Given the description of an element on the screen output the (x, y) to click on. 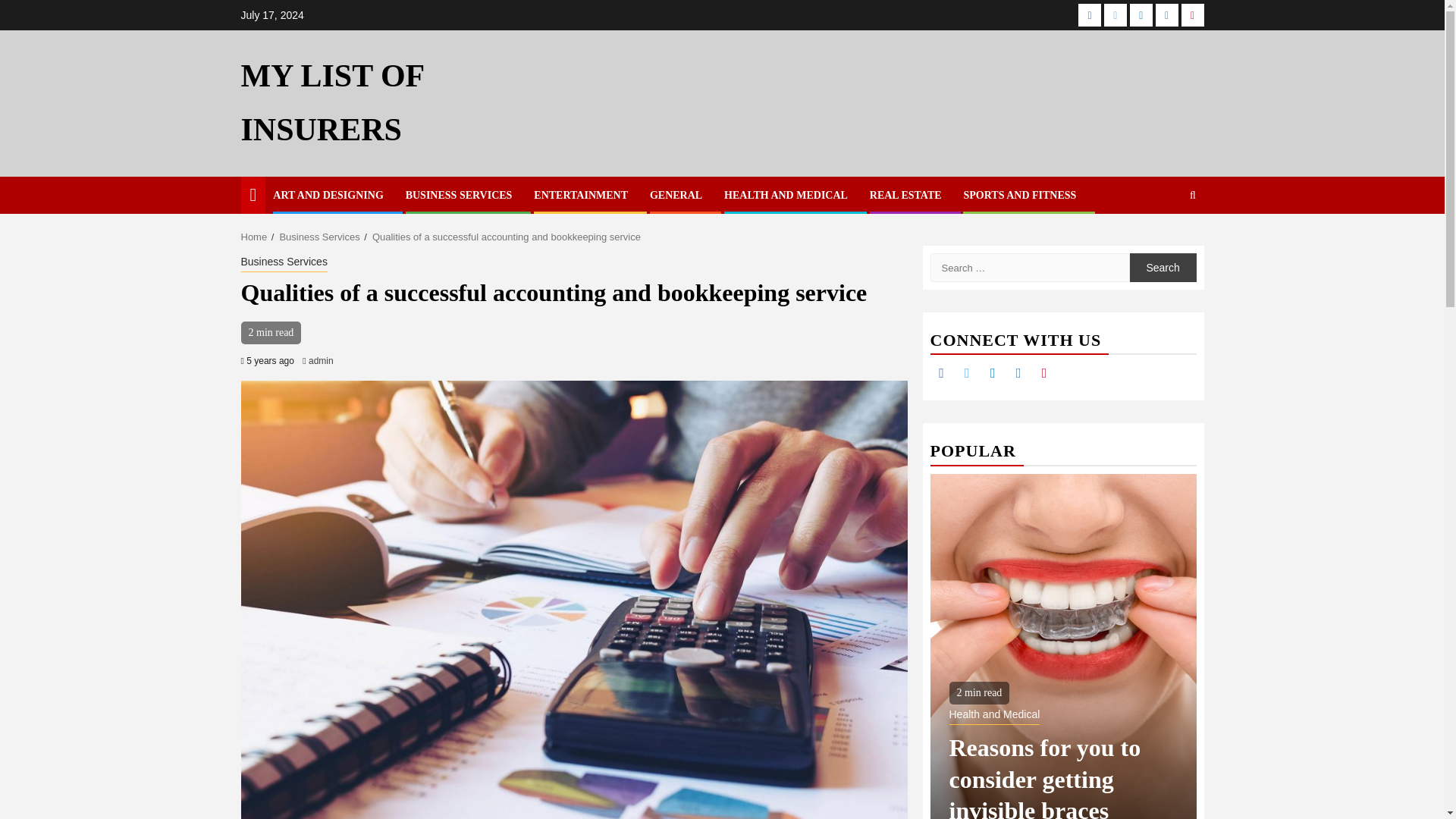
Qualities of a successful accounting and bookkeeping service (506, 236)
LinkedIn (992, 373)
Home (254, 236)
Business Services (319, 236)
BUSINESS SERVICES (459, 194)
Search (1163, 240)
MY LIST OF INSURERS (332, 102)
Facebook (1089, 15)
GENERAL (675, 194)
Instagram (1018, 373)
ENTERTAINMENT (580, 194)
Search (1162, 267)
Facebook (941, 373)
Pinterest (1043, 373)
Twitter (966, 373)
